Given the description of an element on the screen output the (x, y) to click on. 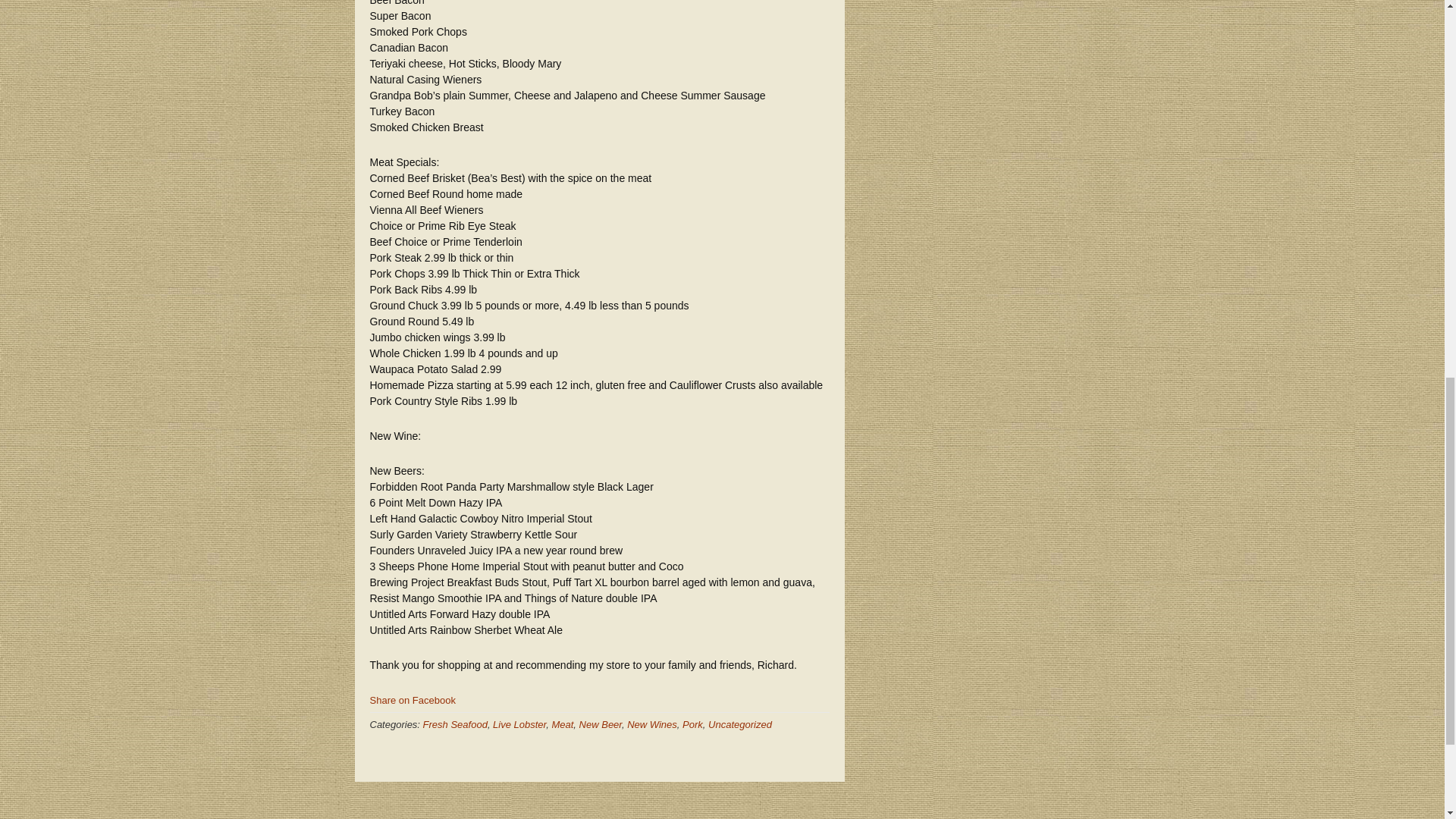
New Wines (652, 724)
Live Lobster (519, 724)
Pork (692, 724)
Fresh Seafood (455, 724)
New Beer (600, 724)
Meat (562, 724)
Share on Facebook (412, 699)
Uncategorized (739, 724)
